Given the description of an element on the screen output the (x, y) to click on. 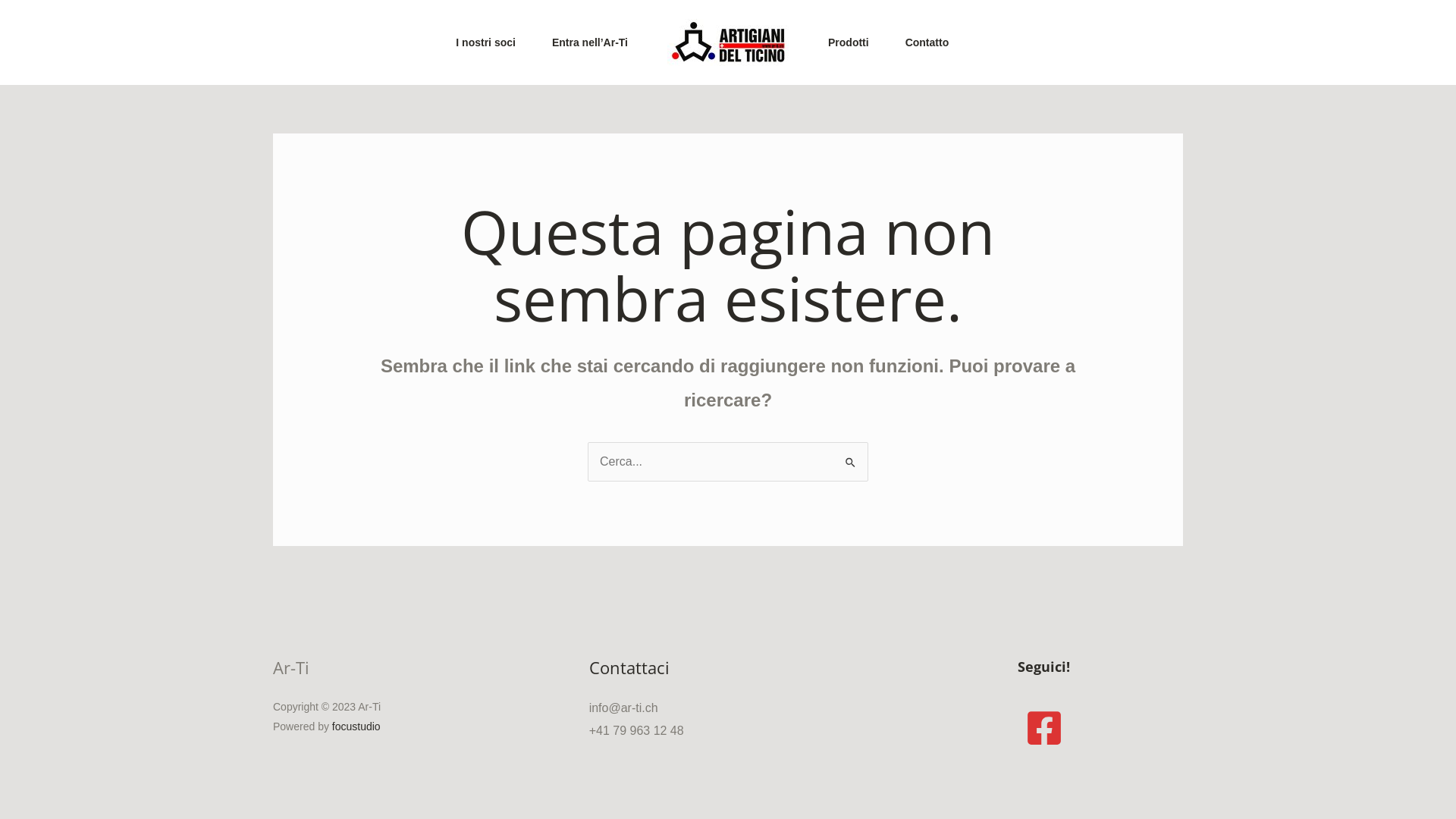
focustudio Element type: text (356, 726)
Cerca Element type: text (851, 457)
Contatto Element type: text (927, 42)
Prodotti Element type: text (848, 42)
I nostri soci Element type: text (485, 42)
